Given the description of an element on the screen output the (x, y) to click on. 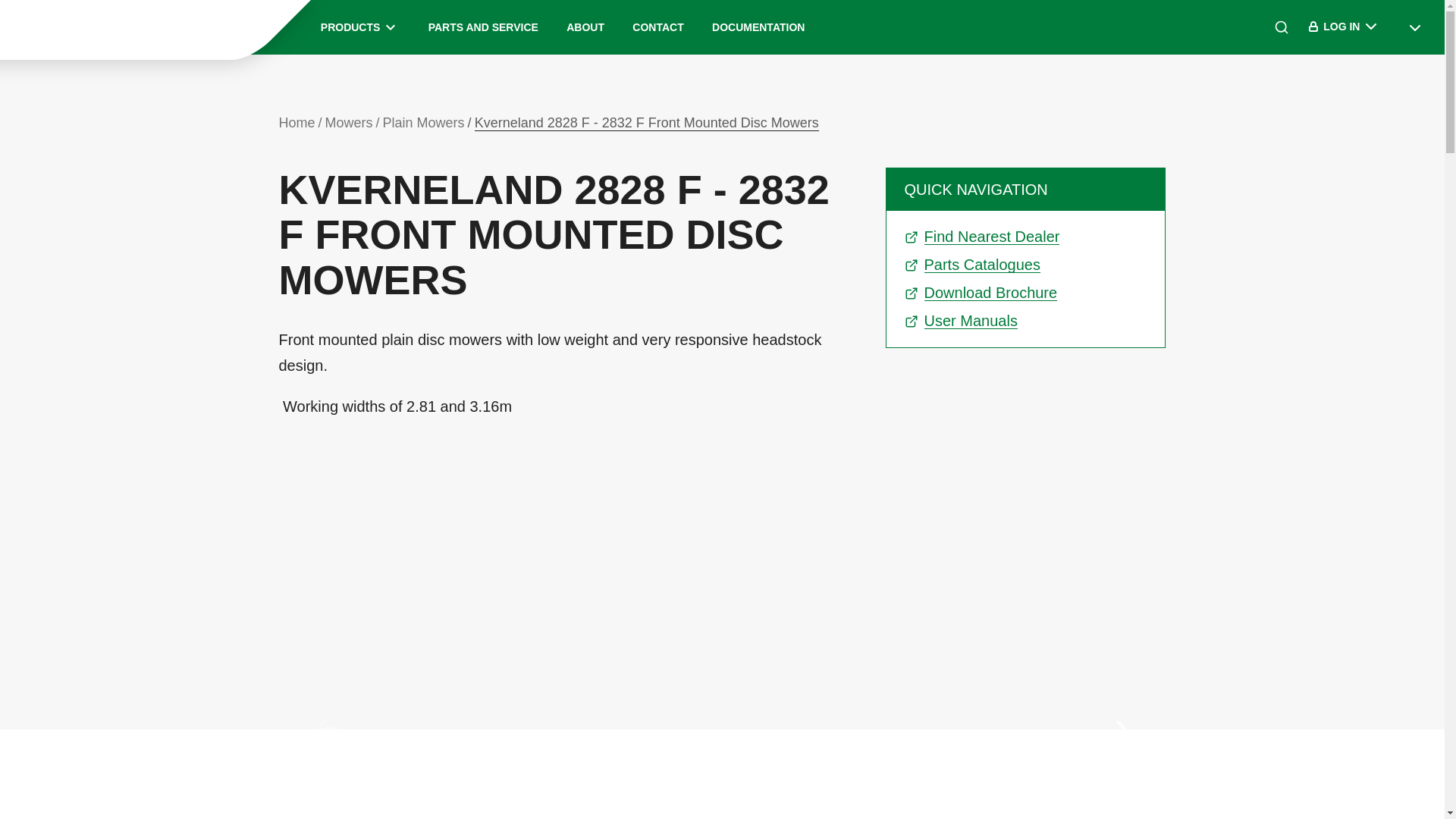
PRODUCTS (359, 27)
Search (1281, 26)
Kverneland (128, 26)
